Given the description of an element on the screen output the (x, y) to click on. 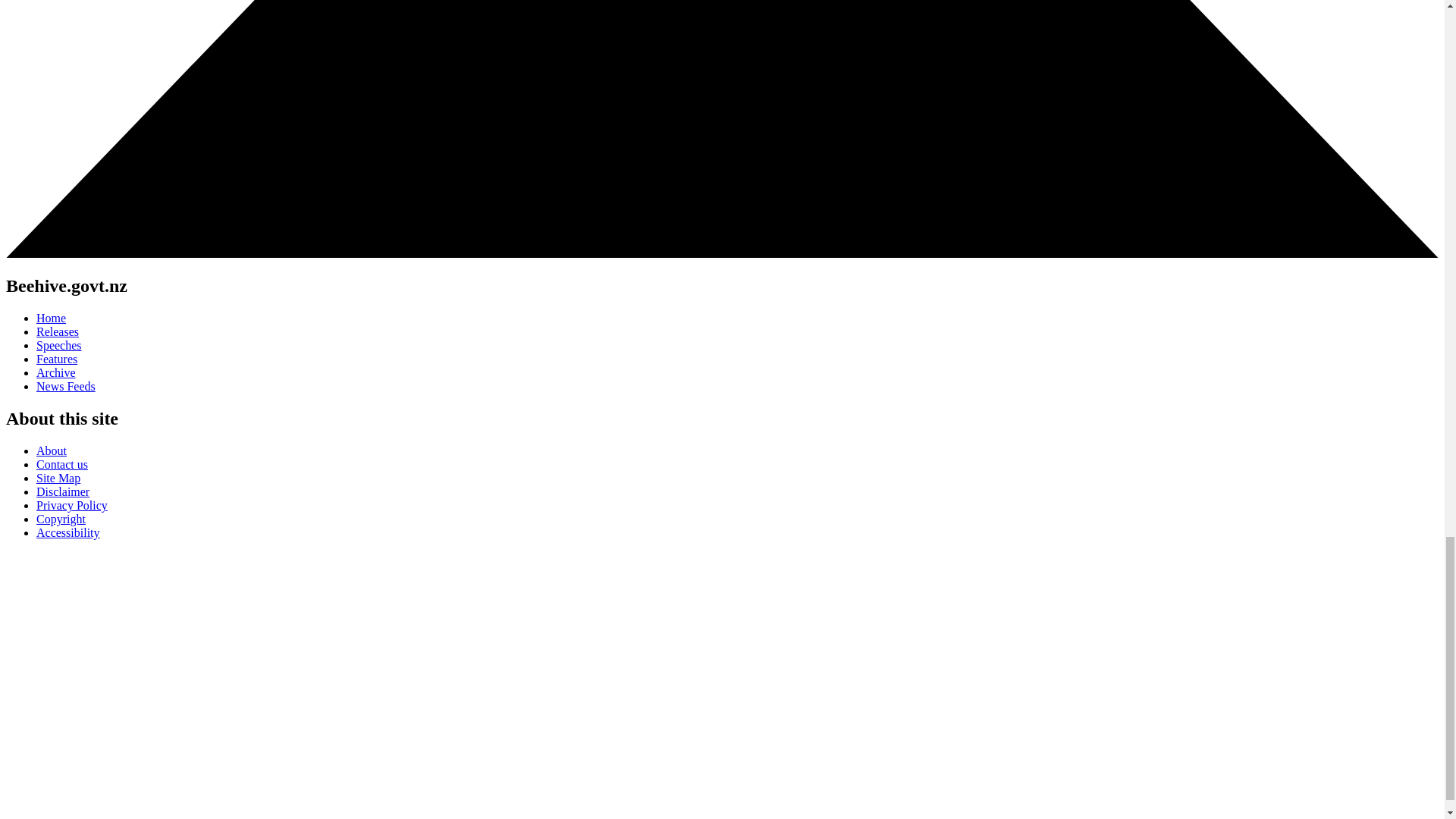
Privacy Policy (71, 504)
Releases (57, 331)
Home (50, 318)
Contact us (61, 463)
Speeches (58, 345)
Copyright (60, 518)
Features (56, 358)
Site Map (58, 477)
Archive (55, 372)
Accessibility (68, 532)
About (51, 450)
Disclaimer (62, 491)
News Feeds (66, 386)
